Given the description of an element on the screen output the (x, y) to click on. 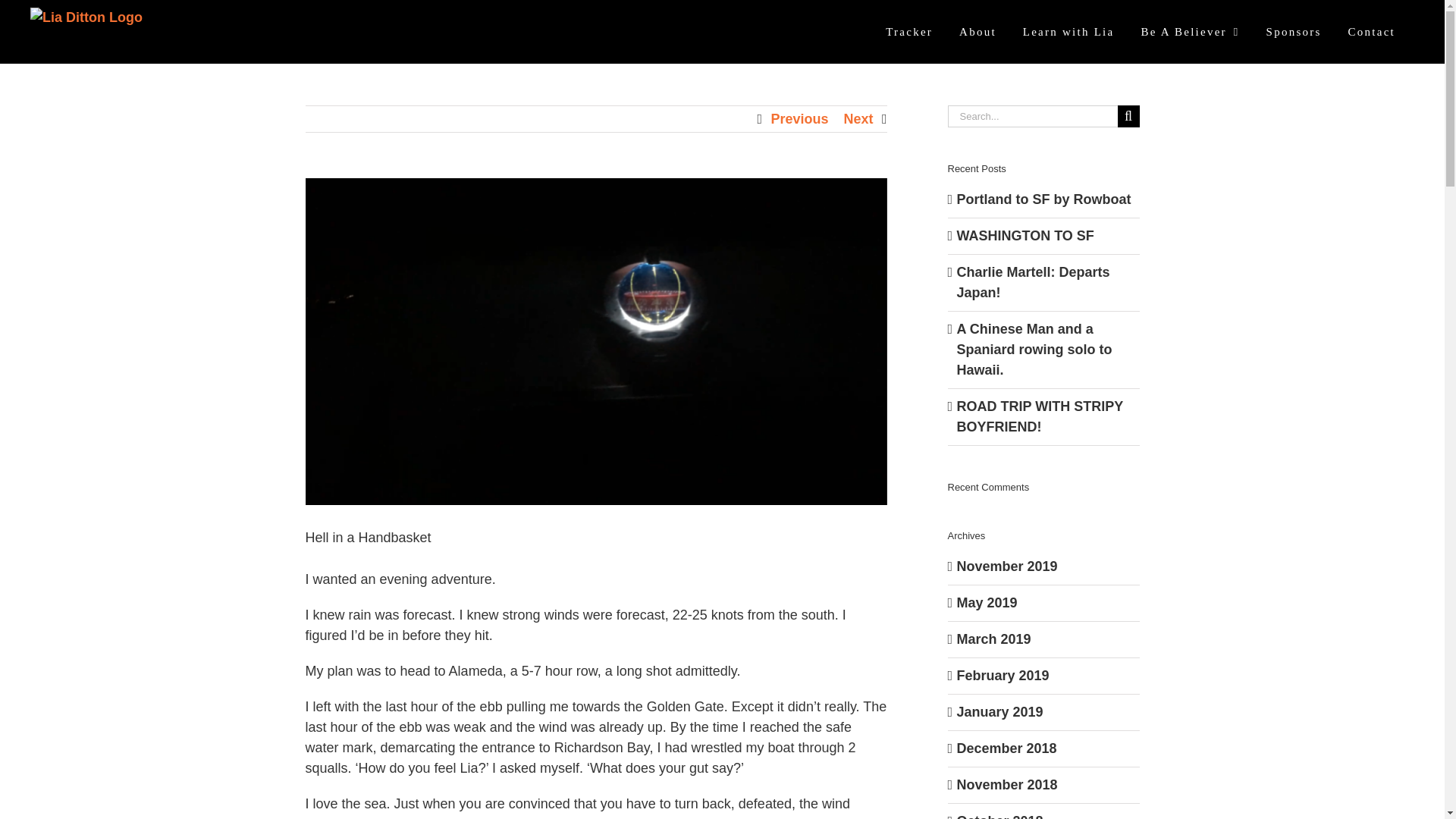
Previous (799, 118)
A Chinese Man and a Spaniard rowing solo to Hawaii. (1034, 349)
Portland to SF by Rowboat (1043, 199)
Charlie Martell: Departs Japan! (1032, 282)
Learn with Lia (1069, 31)
WASHINGTON TO SF (1025, 235)
Next (857, 118)
Be A Believer (1189, 31)
